Given the description of an element on the screen output the (x, y) to click on. 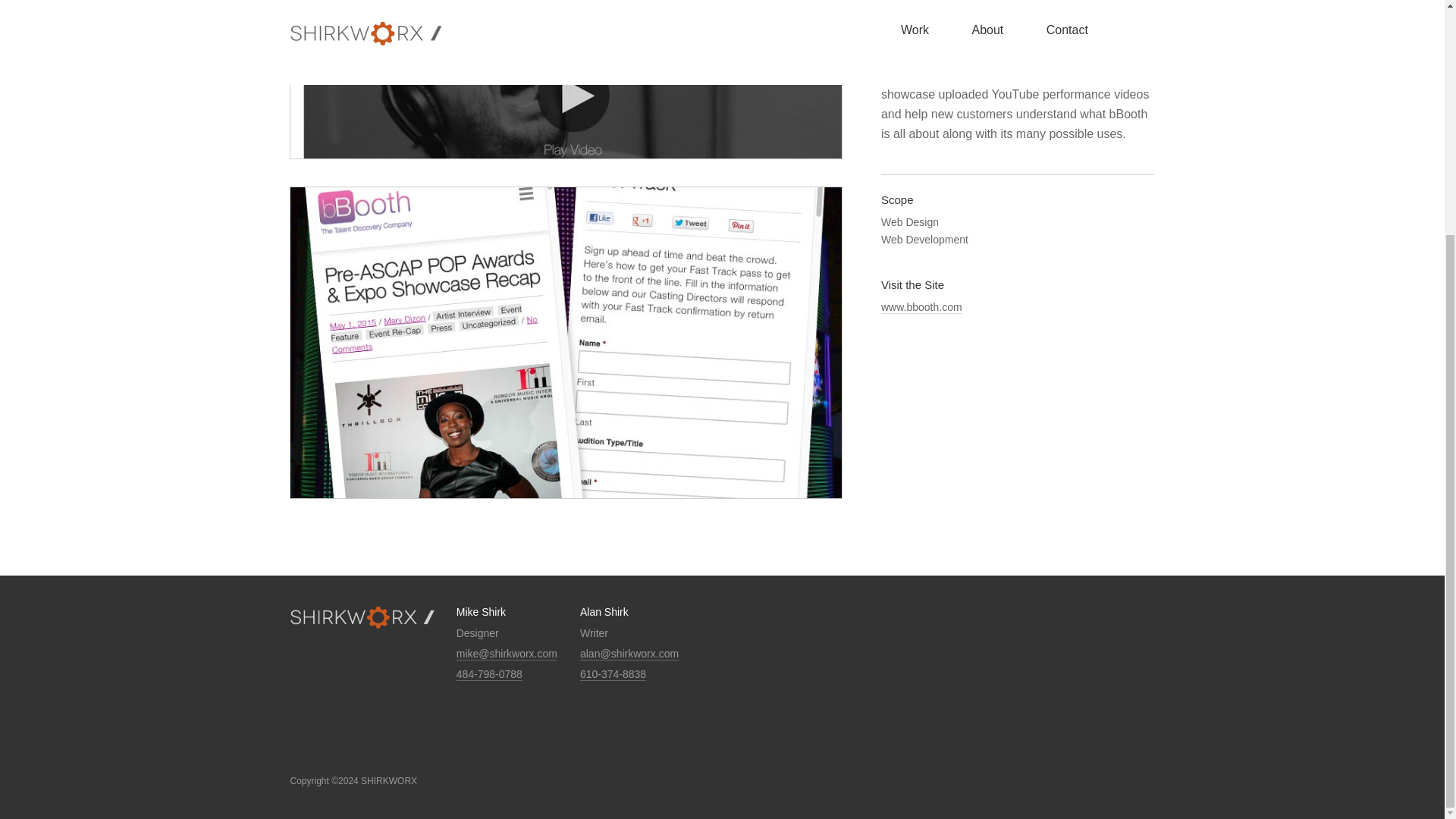
484-798-0788 (489, 674)
610-374-8838 (612, 674)
www.bbooth.com (921, 307)
